Given the description of an element on the screen output the (x, y) to click on. 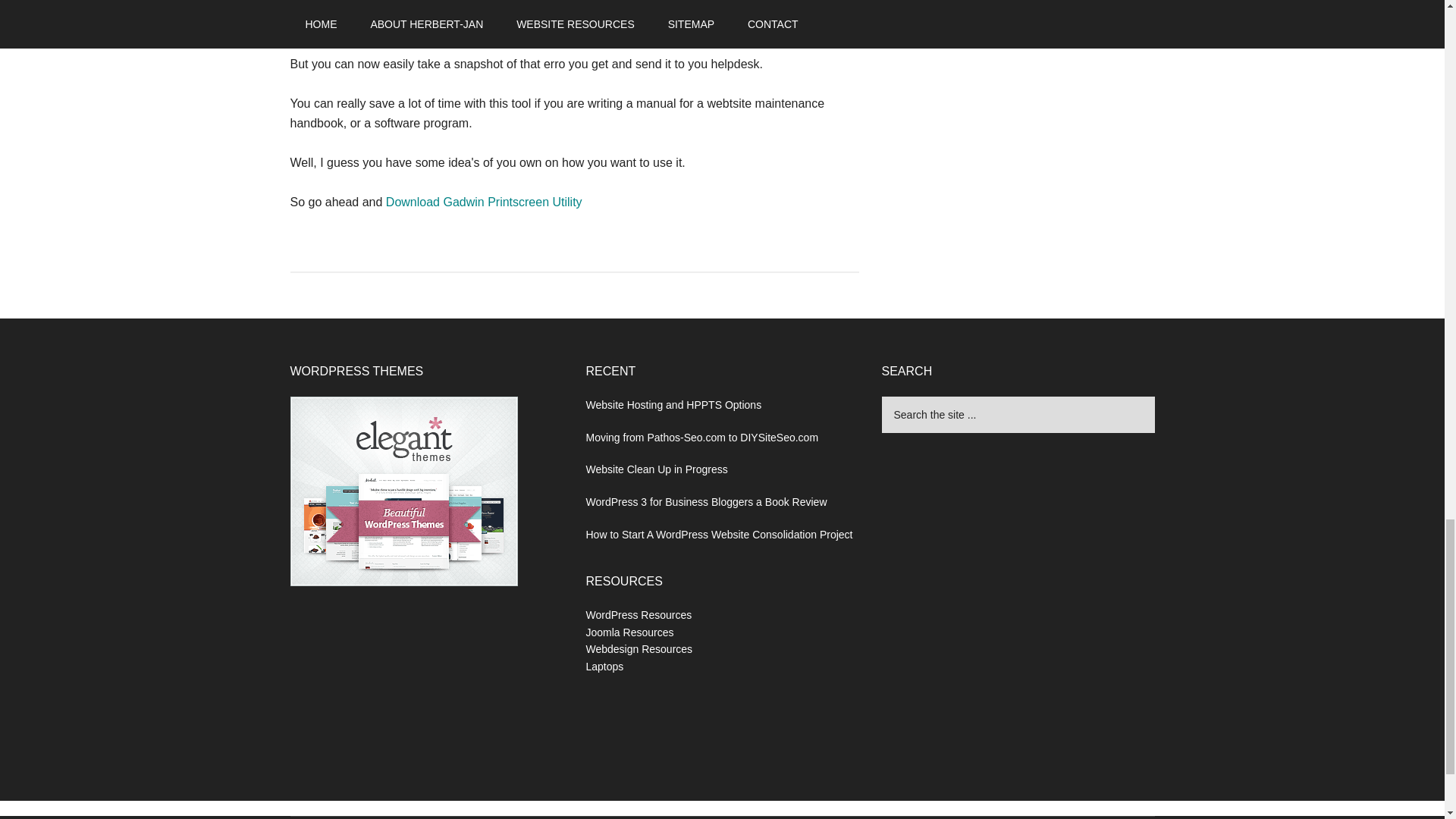
Gadwin Printscreen Utility (483, 201)
